Given the description of an element on the screen output the (x, y) to click on. 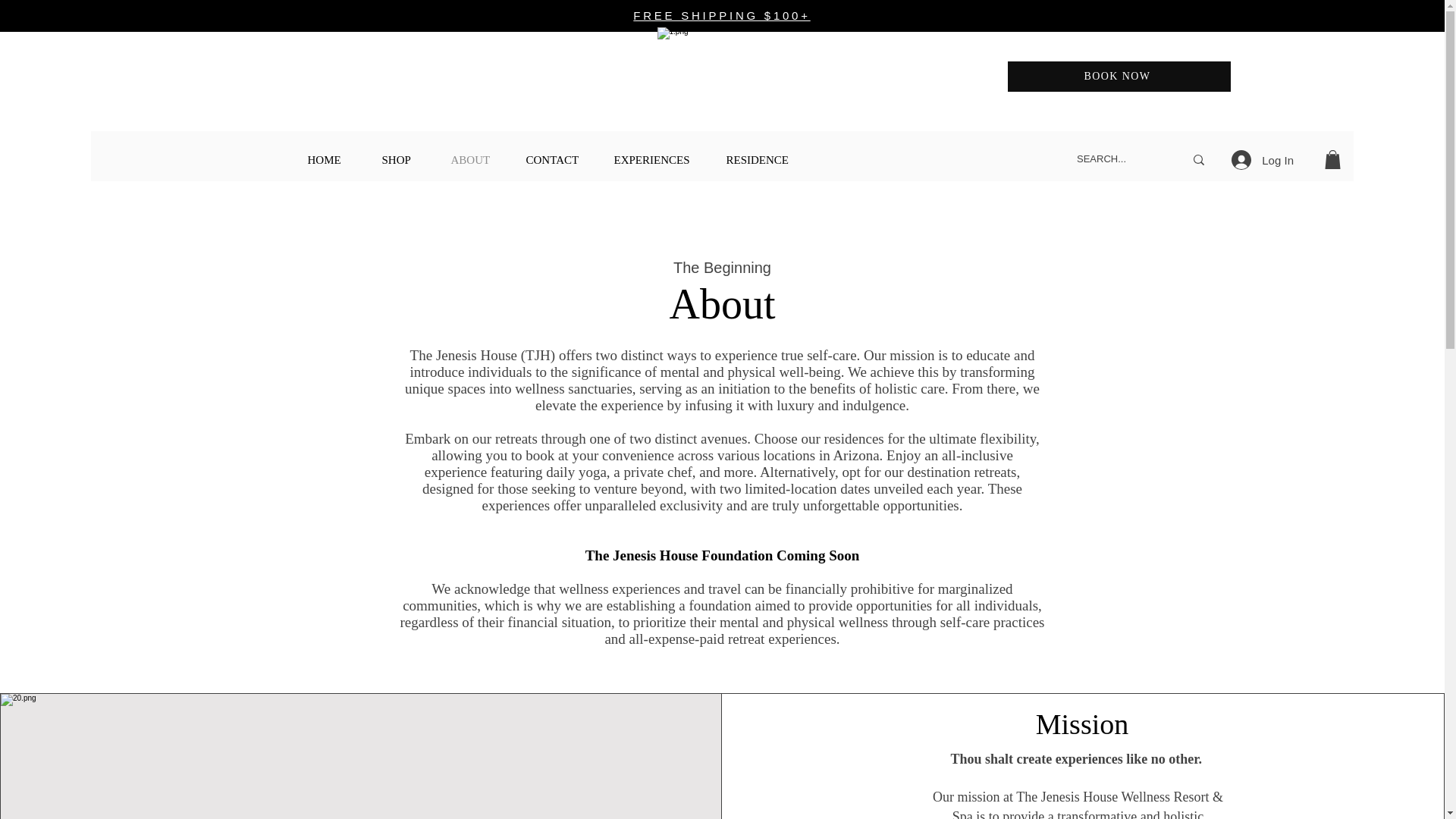
RESIDENCE (763, 159)
HOME (332, 159)
BOOK NOW (1118, 76)
CONTACT (557, 159)
Log In (1262, 159)
EXPERIENCES (658, 159)
SHOP (404, 159)
ABOUT (477, 159)
